Given the description of an element on the screen output the (x, y) to click on. 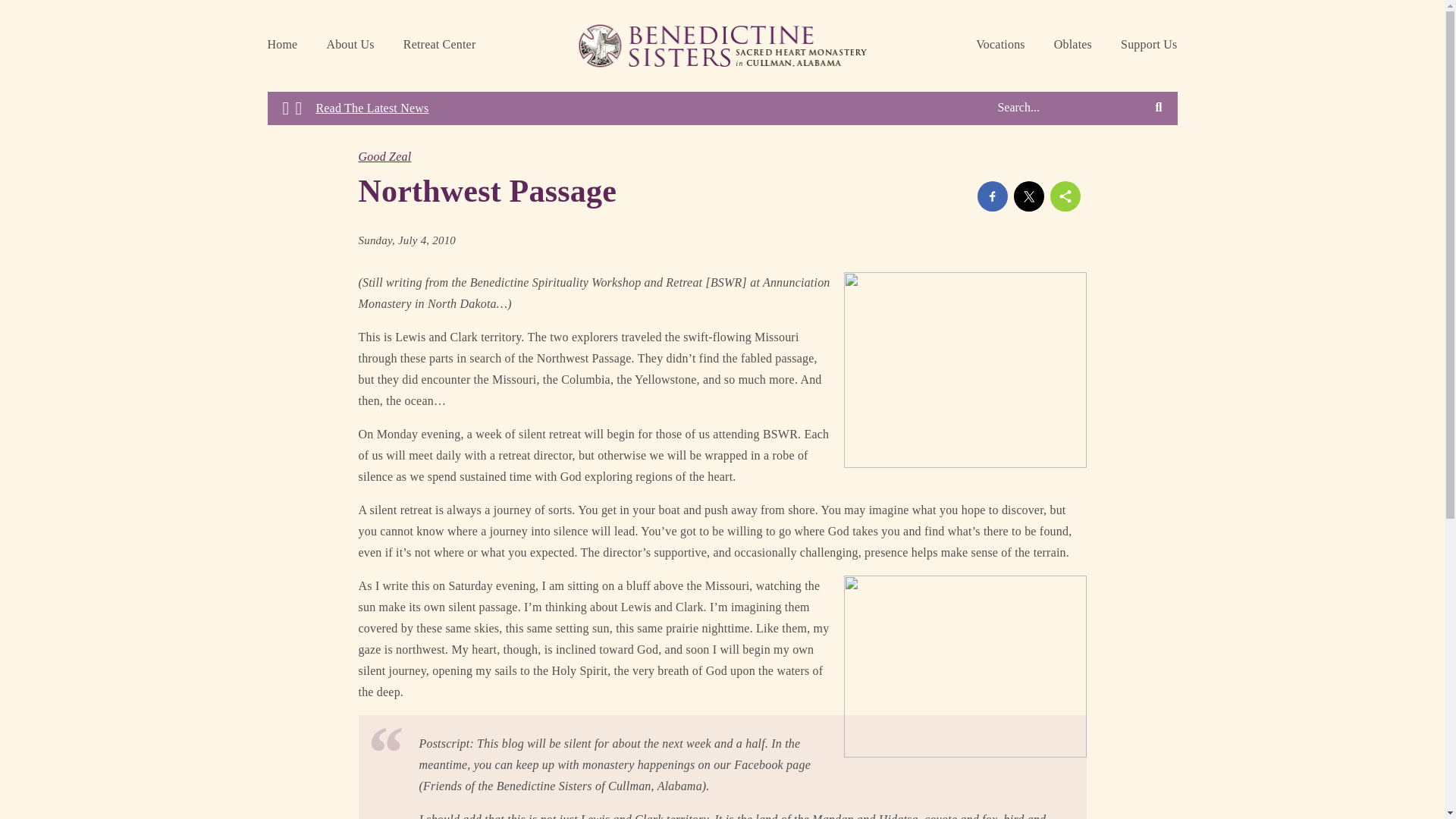
Support Us (1148, 45)
About Us (350, 45)
Retreat Center (439, 45)
Oblates (1072, 45)
Vocations (999, 45)
